Given the description of an element on the screen output the (x, y) to click on. 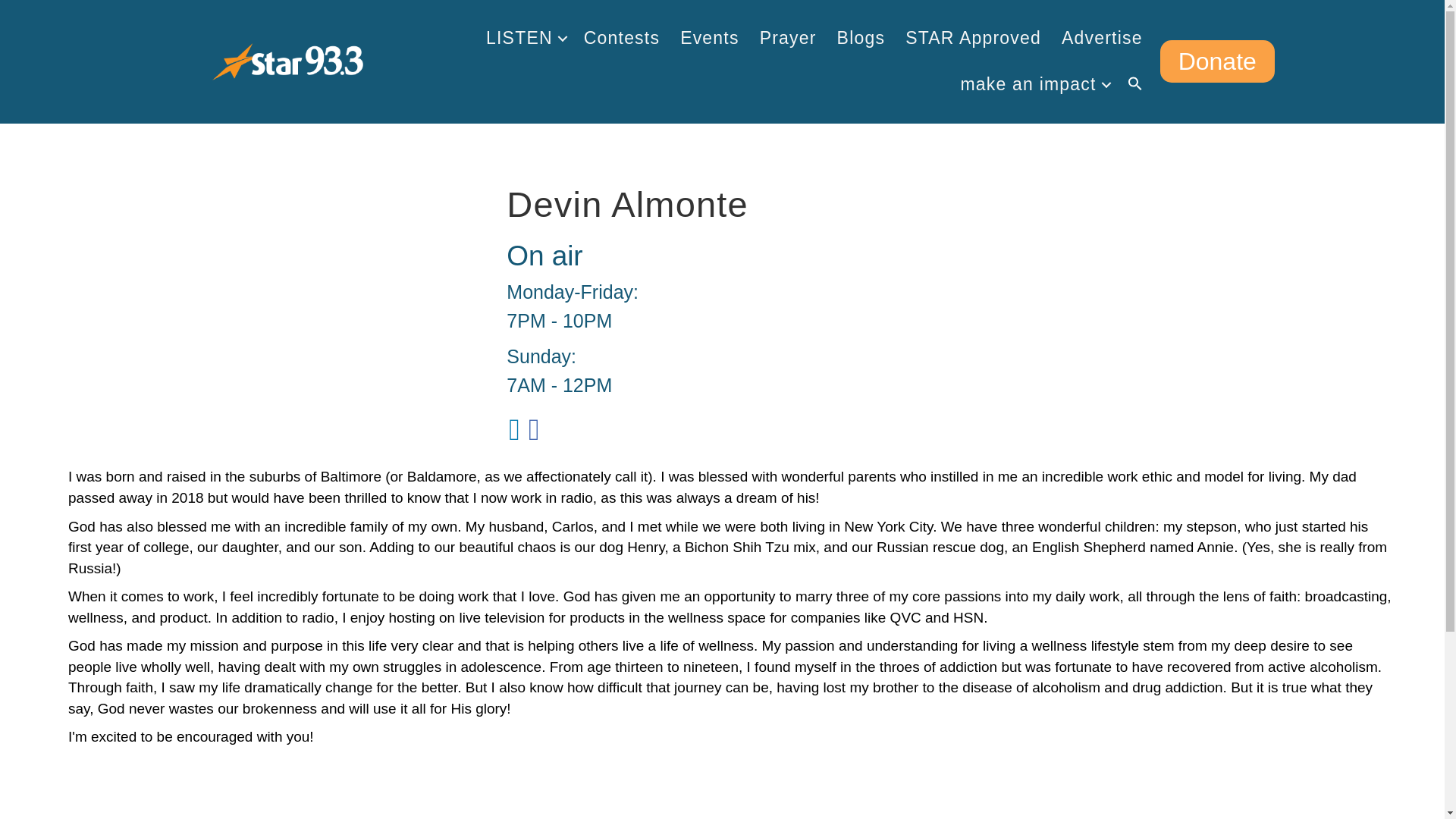
Advertise (1102, 38)
Donate (1217, 61)
LISTEN (524, 38)
Go back (131, 817)
Prayer (788, 38)
Events (709, 38)
Contests (621, 38)
make an impact (1033, 84)
Blogs (861, 38)
STAR Approved (973, 38)
